Given the description of an element on the screen output the (x, y) to click on. 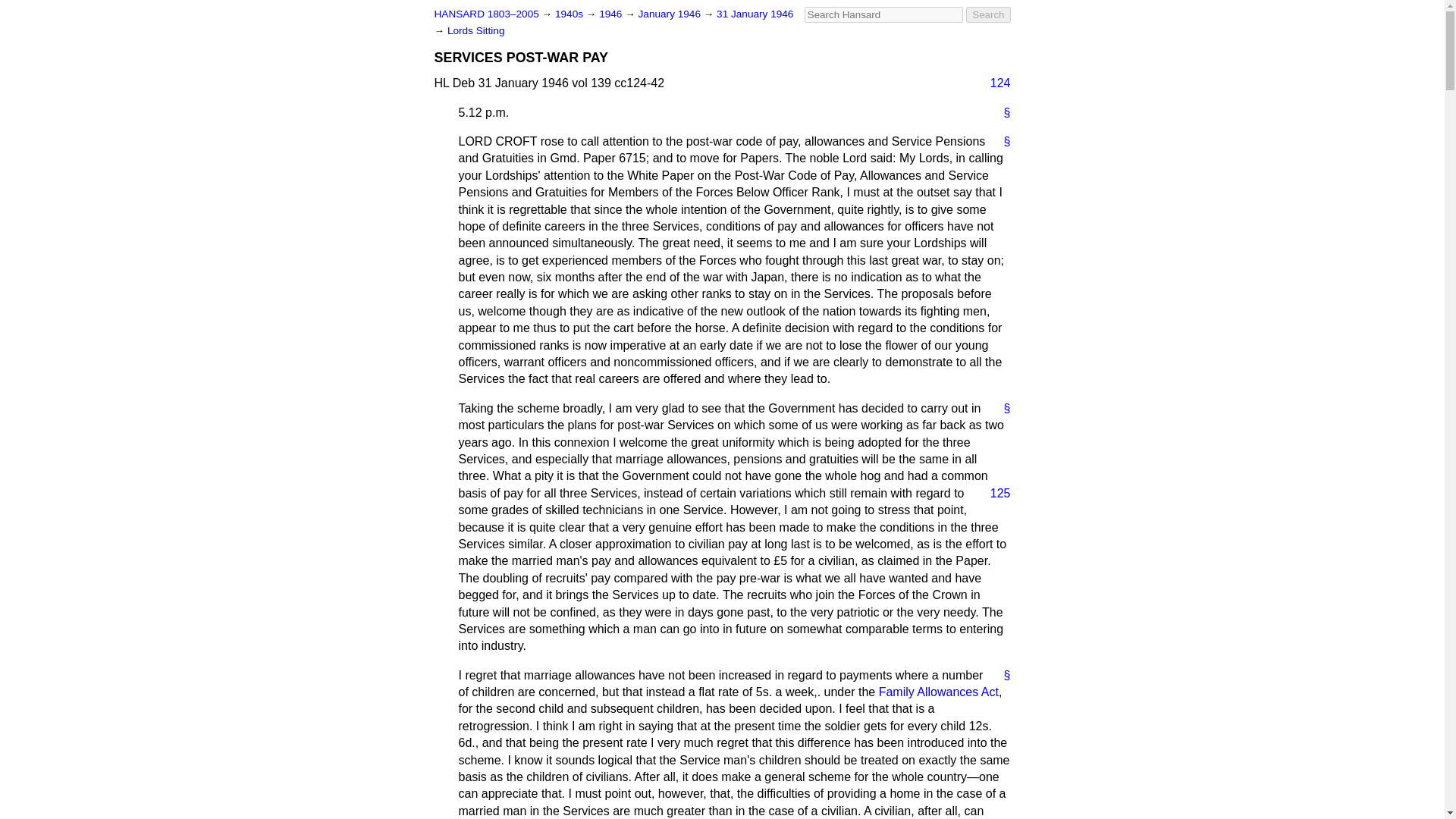
Search (988, 14)
1940s (570, 13)
Lords Sitting (475, 30)
Search (988, 14)
January 1946 (671, 13)
124 (994, 83)
Family Allowances Act (938, 691)
31 January 1946 (754, 13)
Link to this contribution (1000, 675)
Link to this contribution (1000, 141)
